Given the description of an element on the screen output the (x, y) to click on. 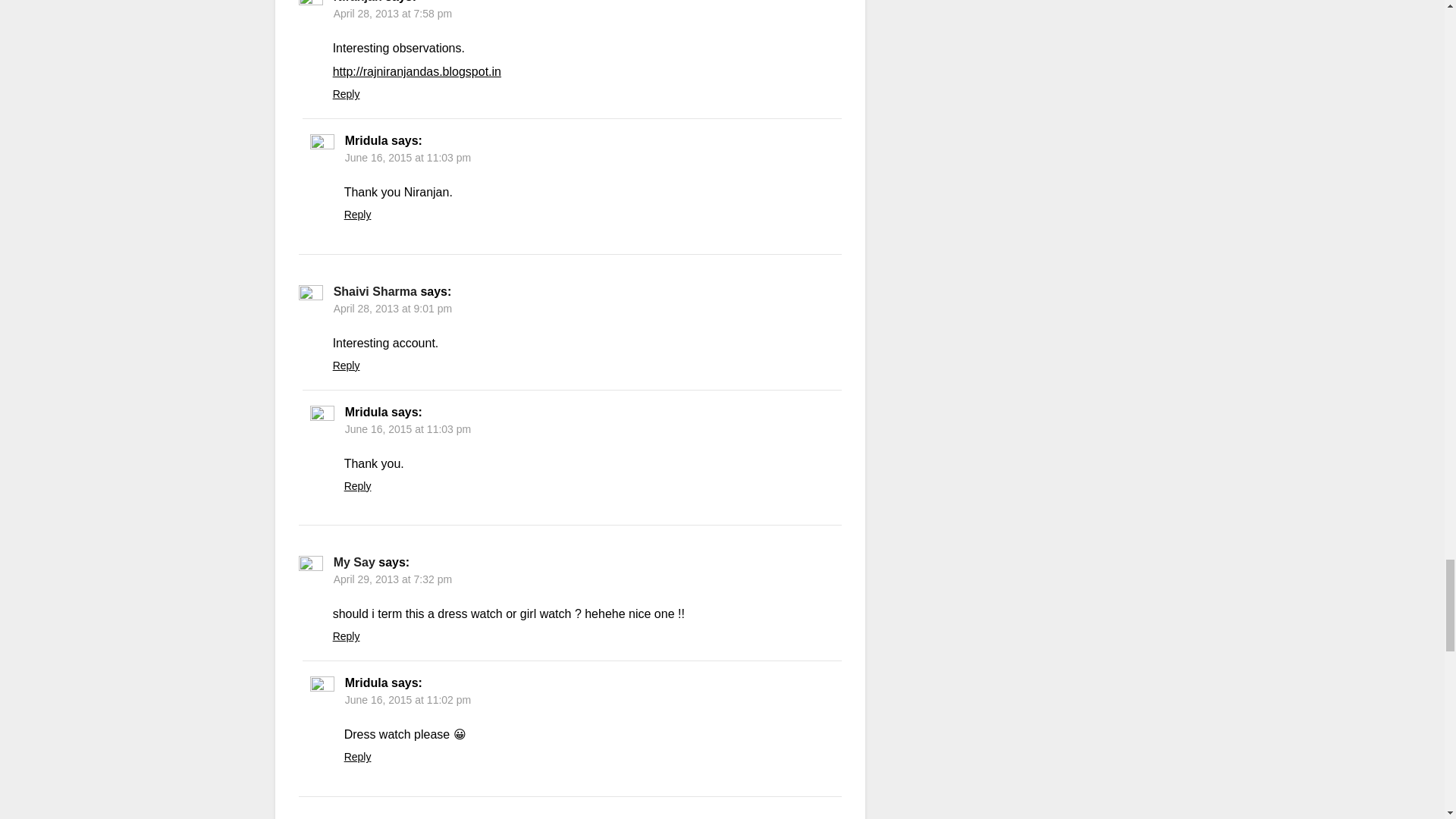
Niranjan (357, 1)
Reply (346, 93)
April 28, 2013 at 7:58 pm (392, 13)
